Given the description of an element on the screen output the (x, y) to click on. 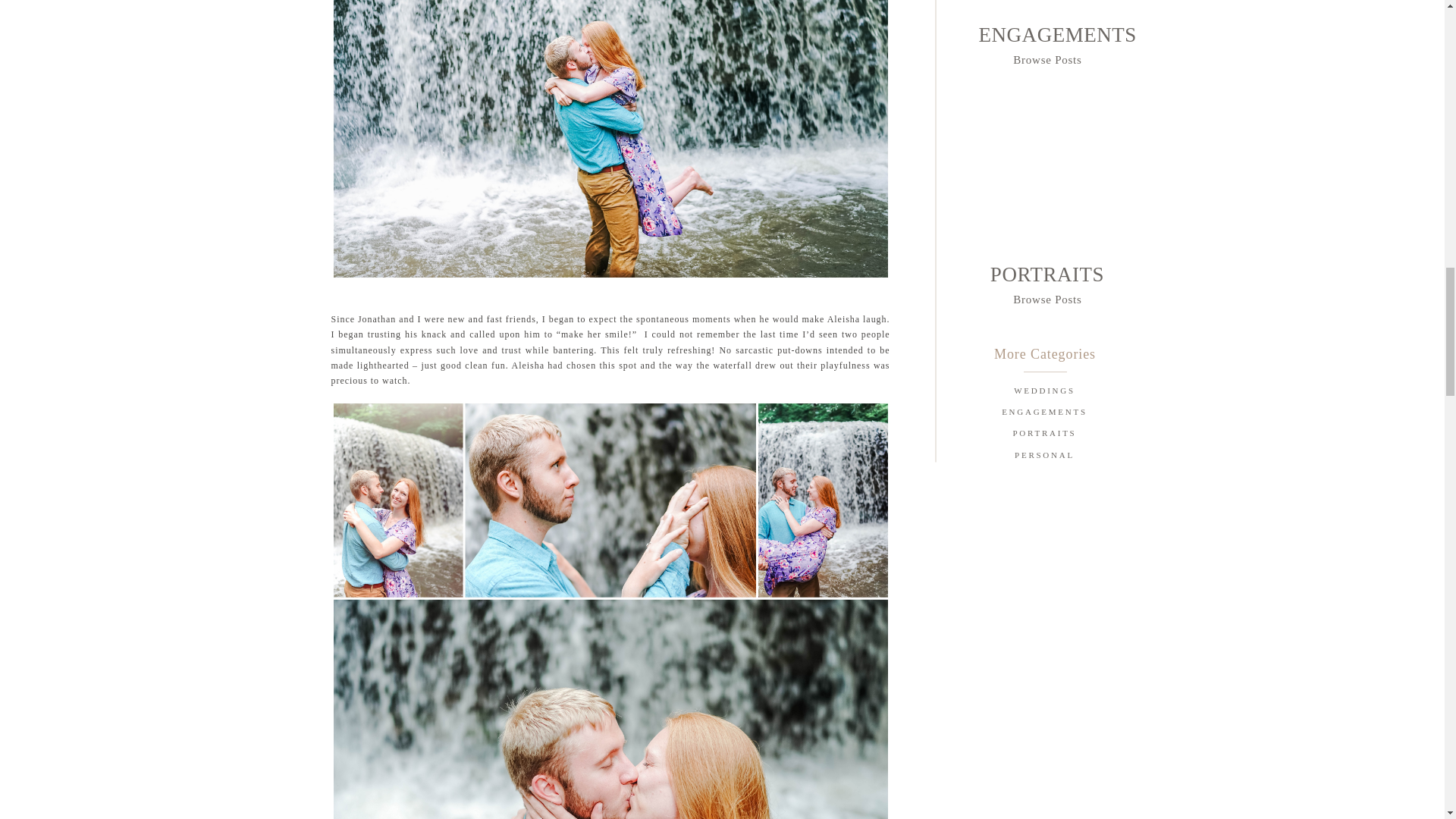
ENGAGEMENTS (1043, 413)
ENGAGEMENTS (1046, 27)
PERSONAL (1043, 456)
PORTRAITS (1046, 270)
Browse Posts (1047, 298)
Browse Posts (1047, 58)
PORTRAITS (1043, 434)
WEDDINGS (1043, 393)
